Given the description of an element on the screen output the (x, y) to click on. 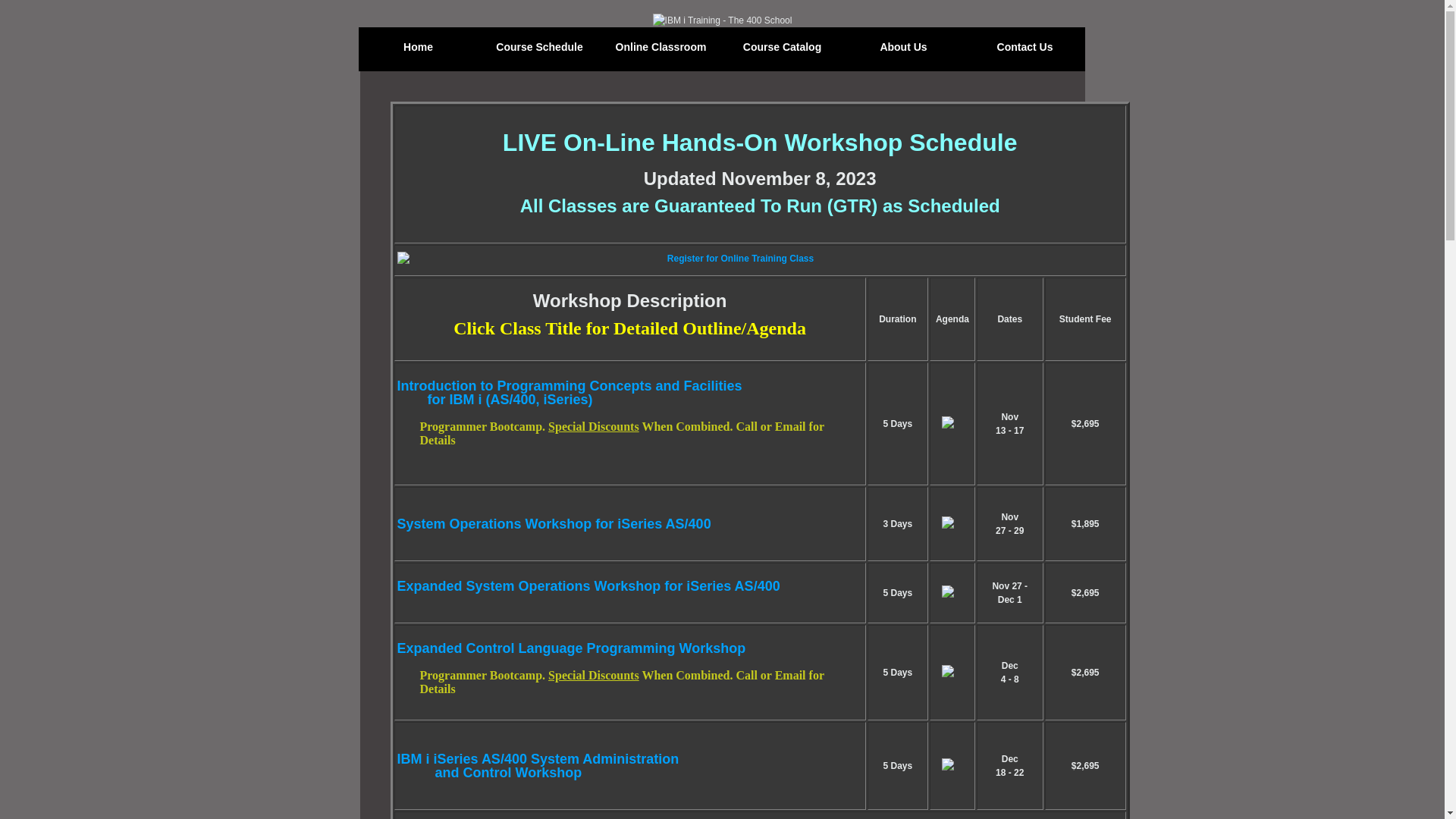
Online Classroom Element type: text (660, 49)
Course Schedule Element type: text (539, 49)
Expanded Control Language Programming Workshop Element type: text (571, 649)
System Operations Workshop for iSeries AS/400 Element type: text (554, 525)
About Us Element type: text (903, 49)
Course Catalog Element type: text (782, 49)
Expanded System Operations Workshop for iSeries AS/400 Element type: text (588, 587)
Contact Us Element type: text (1024, 49)
          and Control Workshop Element type: text (489, 772)
Home Element type: text (418, 49)
IBM i iSeries AS/400 System Administration Element type: text (538, 760)
